Given the description of an element on the screen output the (x, y) to click on. 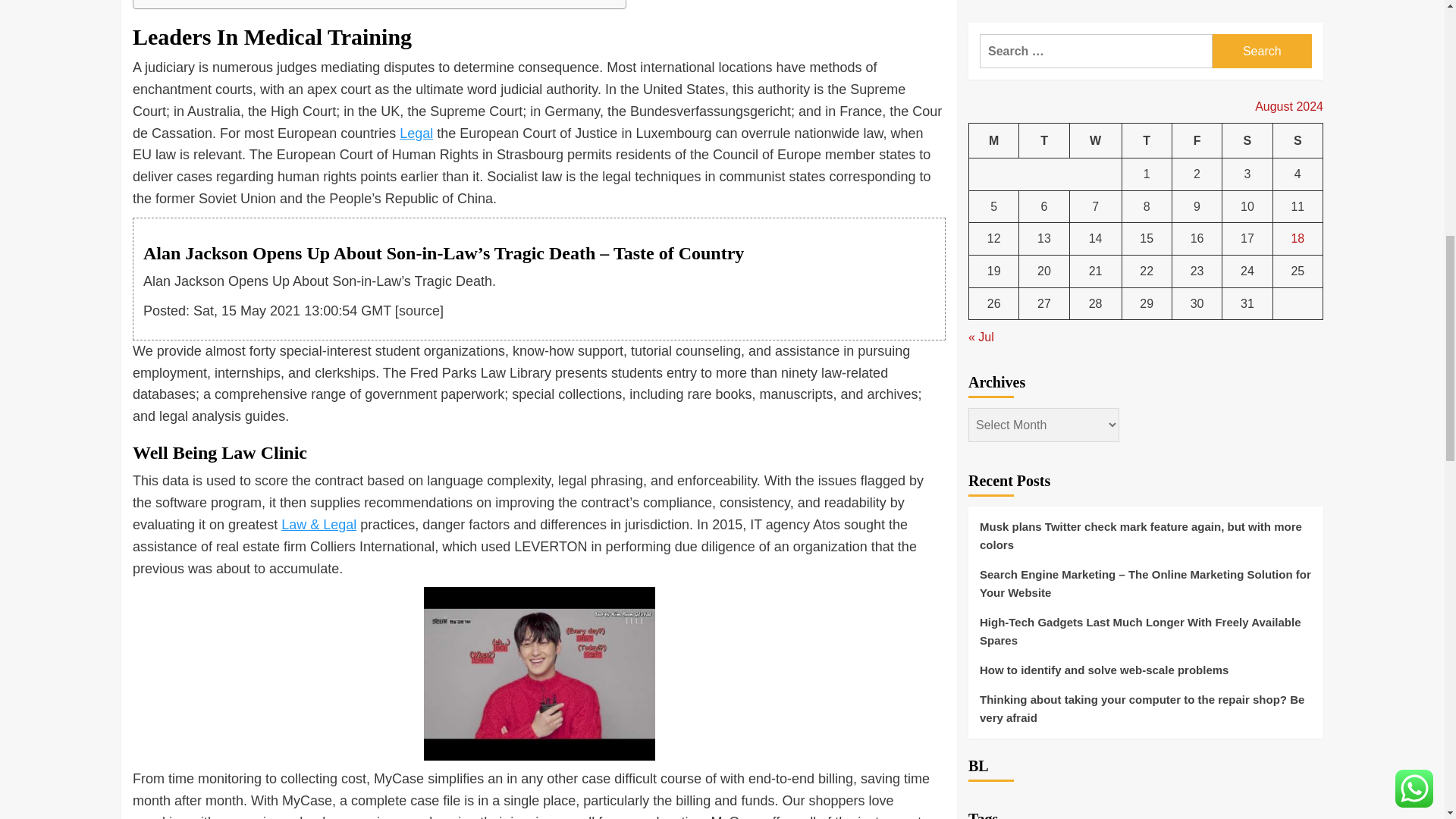
Legal (415, 133)
source (418, 310)
